Given the description of an element on the screen output the (x, y) to click on. 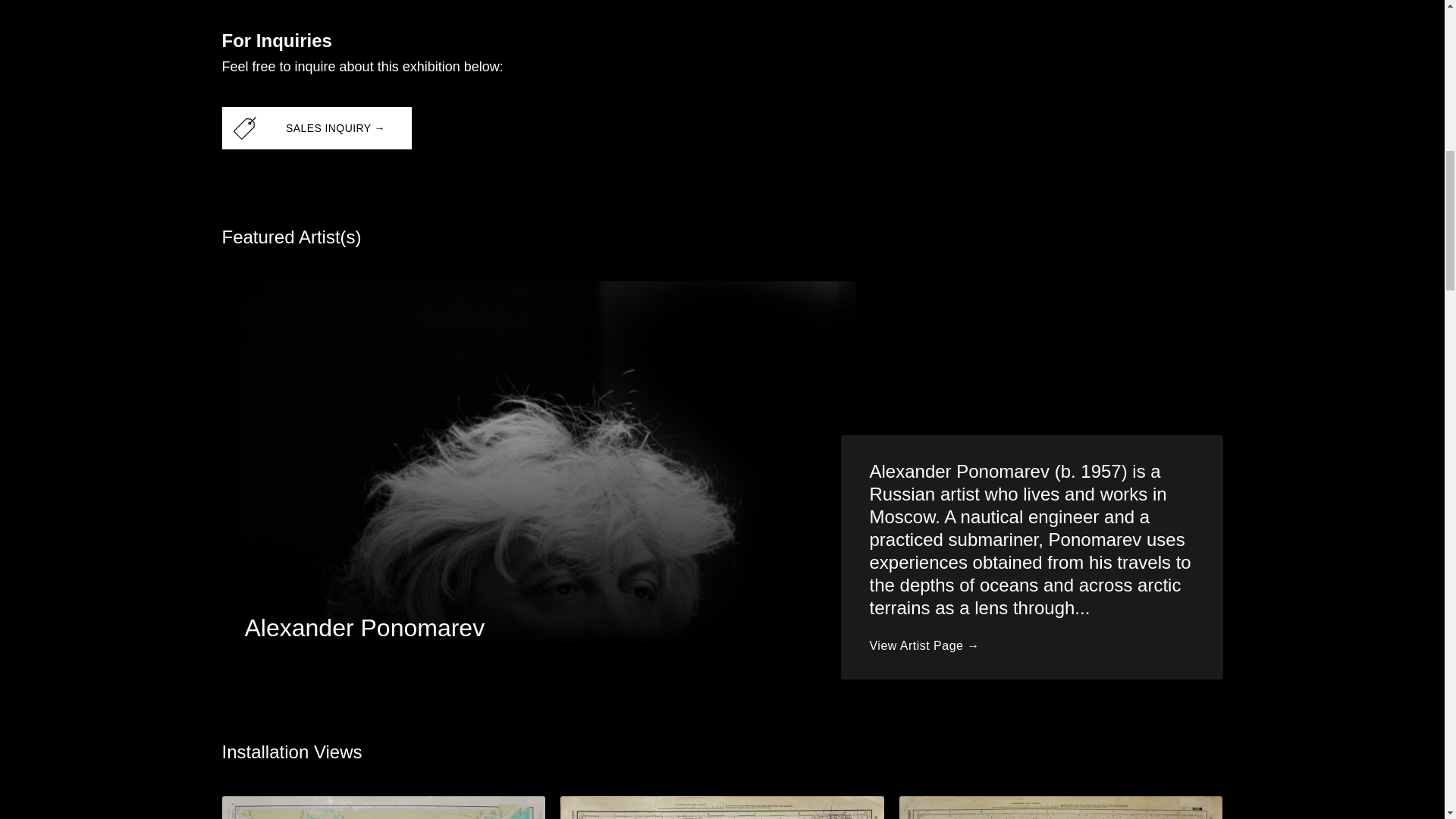
View Artist Page (923, 645)
Alexander Ponomarev (364, 627)
Polar Man (382, 807)
Icebreaker Bow Top (1061, 807)
AP Periscope of Time (721, 807)
Alexander Ponomarev (364, 627)
Sales Inquiry (315, 128)
